Given the description of an element on the screen output the (x, y) to click on. 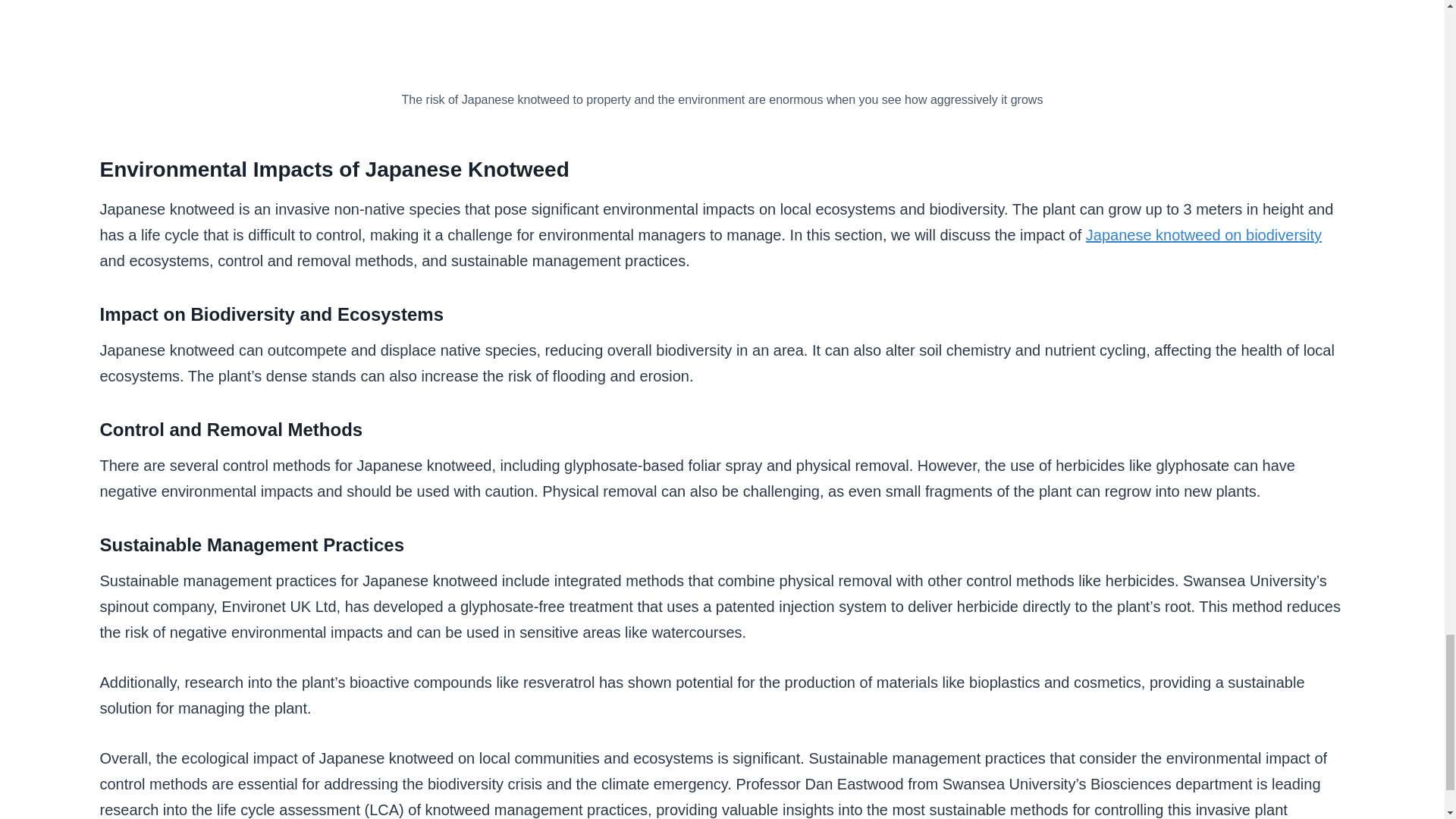
Japanese knotweed on biodiversity (1204, 234)
